Given the description of an element on the screen output the (x, y) to click on. 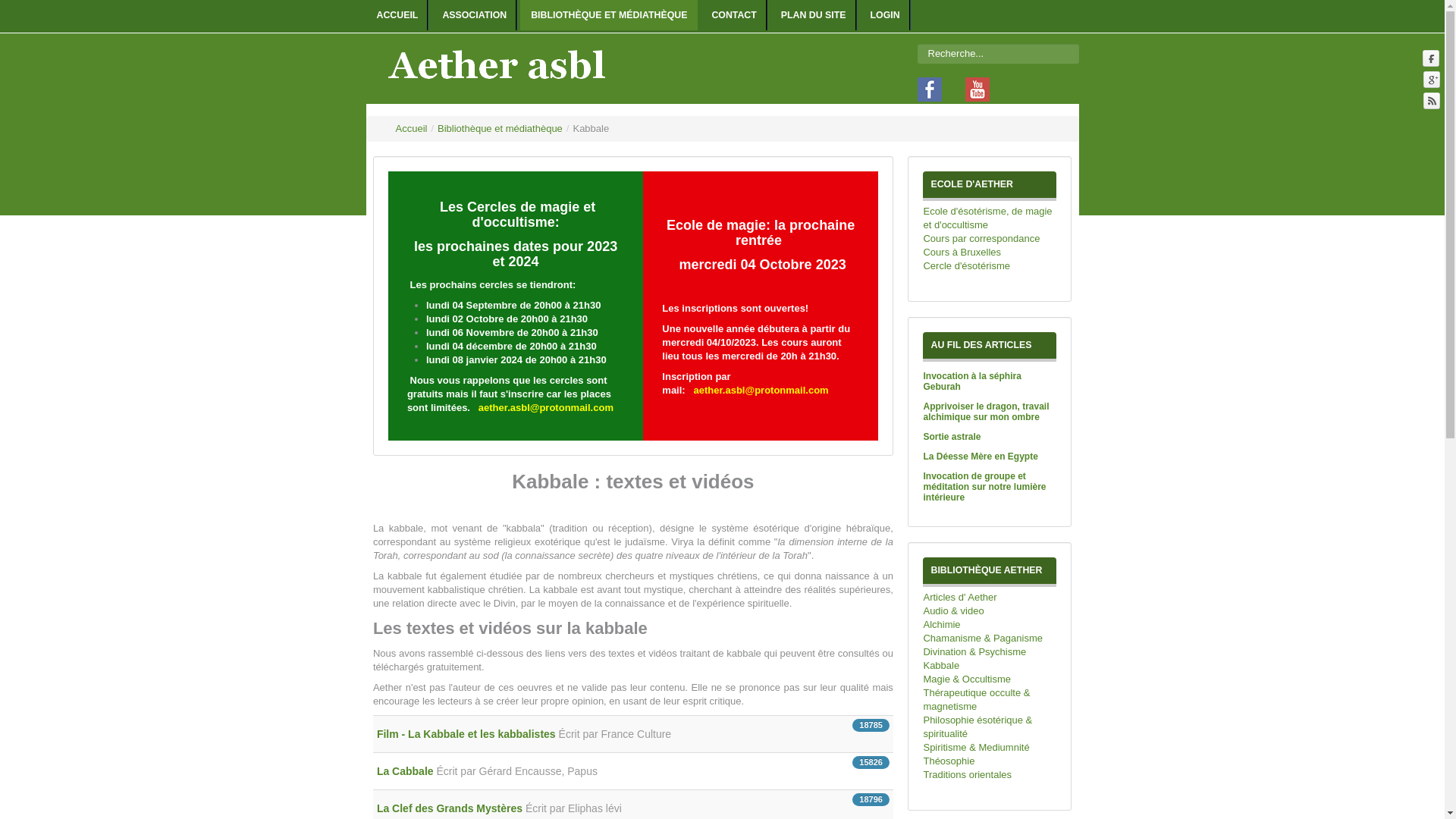
Kabbale Element type: text (989, 665)
Alchimie Element type: text (989, 624)
aether.asbl@protonmail.com Element type: text (760, 389)
Audio & video Element type: text (989, 611)
La Cabbale Element type: text (406, 771)
Facebook Element type: hover (929, 88)
ACCUEIL Element type: text (396, 15)
Cours par correspondance Element type: text (989, 238)
Youtube Element type: hover (973, 88)
RSS Feed Element type: hover (1431, 100)
Divination & Psychisme Element type: text (989, 651)
Google Element type: hover (1431, 78)
Sortie astrale Element type: text (951, 436)
Chamanisme & Paganisme Element type: text (989, 638)
Apprivoiser le dragon, travail alchimique sur mon ombre Element type: text (985, 411)
CONTACT Element type: text (733, 15)
Facebook Element type: hover (1431, 57)
Traditions orientales Element type: text (989, 774)
Accueil Element type: text (411, 128)
Articles d' Aether Element type: text (989, 597)
Magie & Occultisme Element type: text (989, 679)
aether.asbl@protonmail.com Element type: text (545, 407)
Film - La Kabbale et les kabbalistes Element type: text (465, 734)
PLAN DU SITE Element type: text (813, 15)
LOGIN Element type: text (884, 15)
ASSOCIATION Element type: text (474, 15)
